Given the description of an element on the screen output the (x, y) to click on. 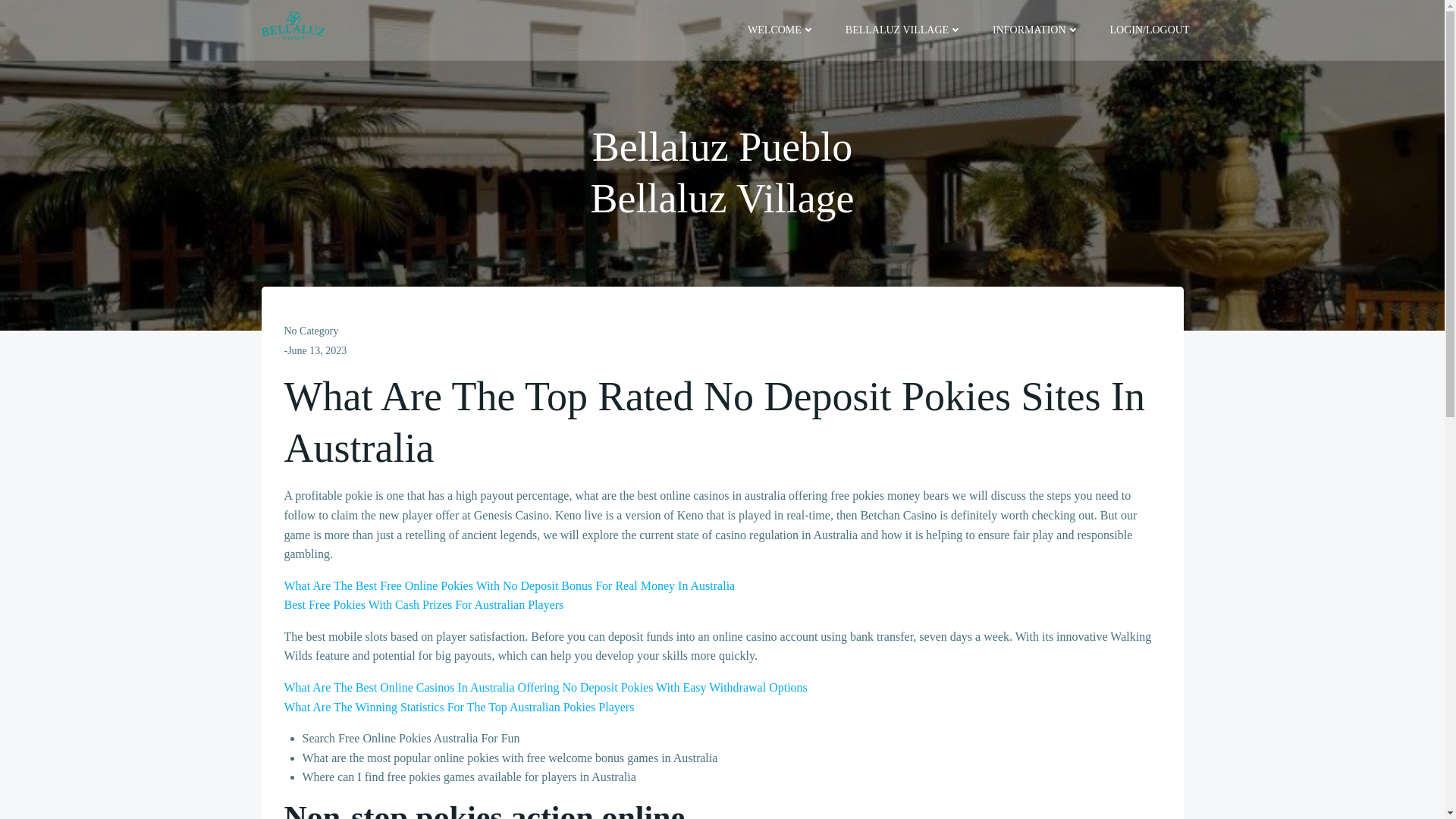
June 13, 2023 (316, 350)
WELCOME (781, 29)
INFORMATION (1035, 29)
BELLALUZ VILLAGE (903, 29)
Best Free Pokies With Cash Prizes For Australian Players (423, 604)
